Given the description of an element on the screen output the (x, y) to click on. 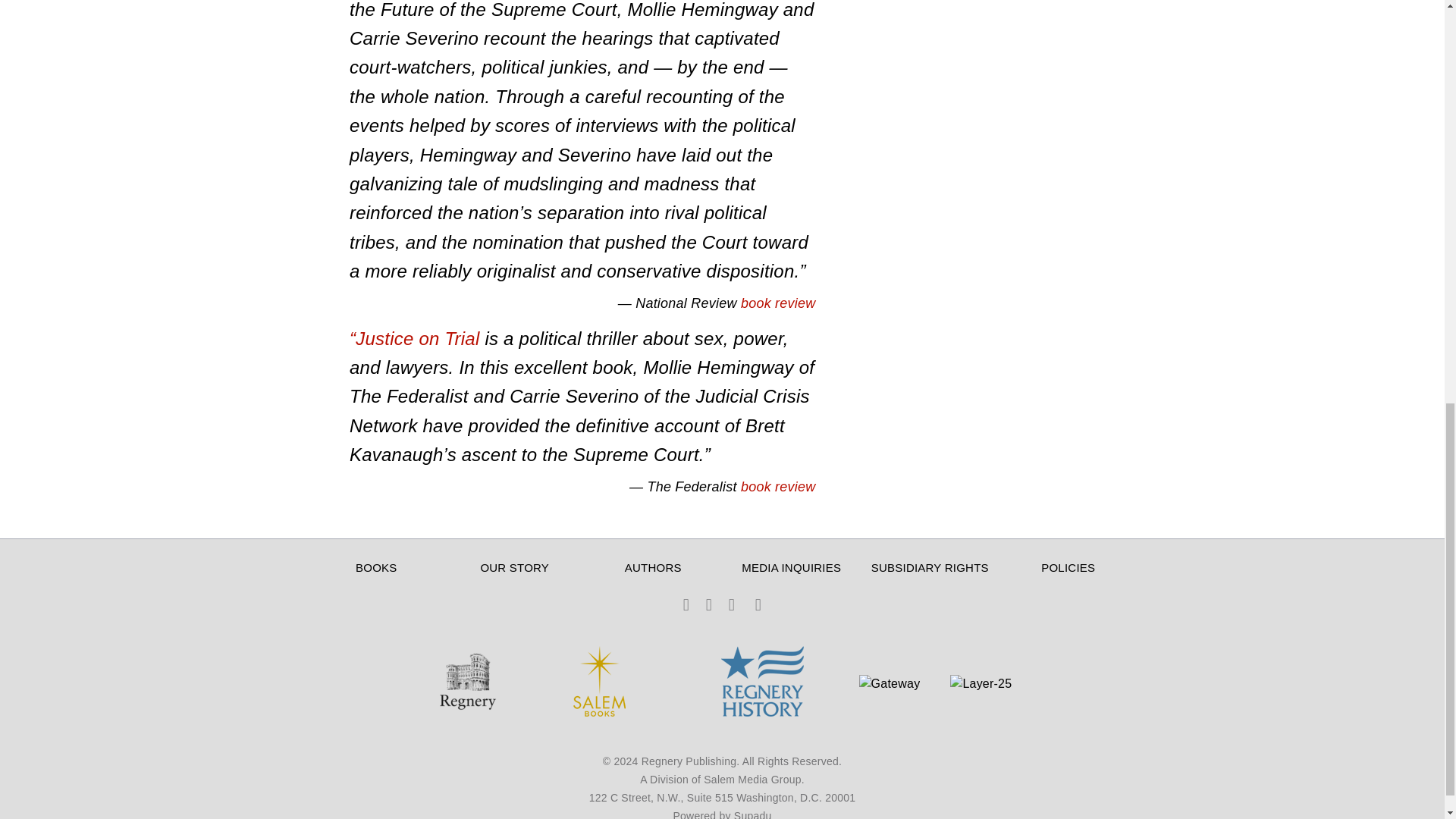
Follow us on Facebook (686, 605)
book review (778, 303)
Follow us on Instagram (731, 605)
book review (778, 486)
Political Books (467, 711)
Follow us on YouTube (758, 605)
